Given the description of an element on the screen output the (x, y) to click on. 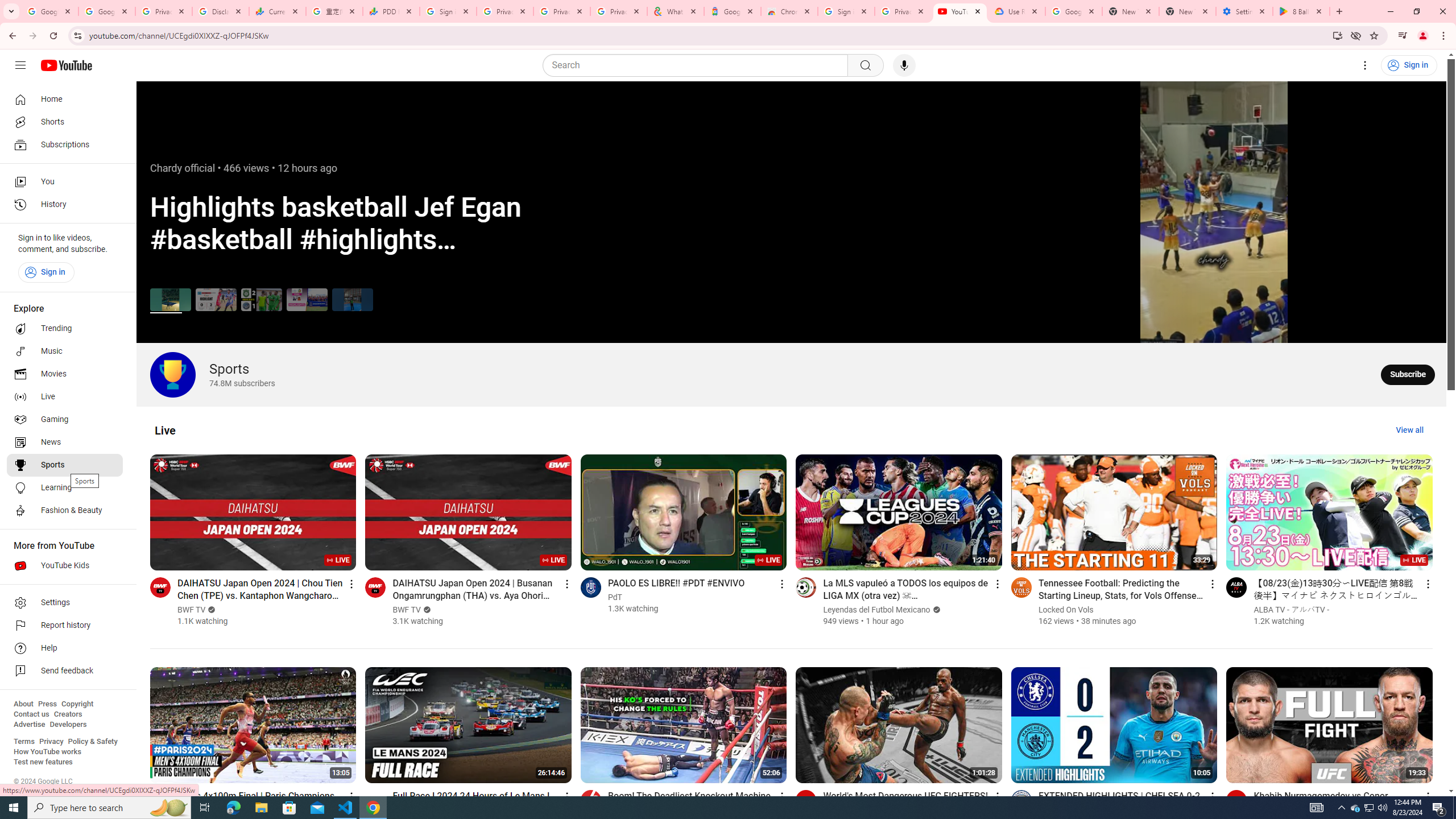
8 Ball Pool - Apps on Google Play (1301, 11)
Send feedback (64, 671)
Subscribe to Sports. (1407, 374)
Gaming (64, 419)
BWF TV (407, 609)
Shorts (64, 121)
View all (1409, 430)
Learning (64, 487)
